Given the description of an element on the screen output the (x, y) to click on. 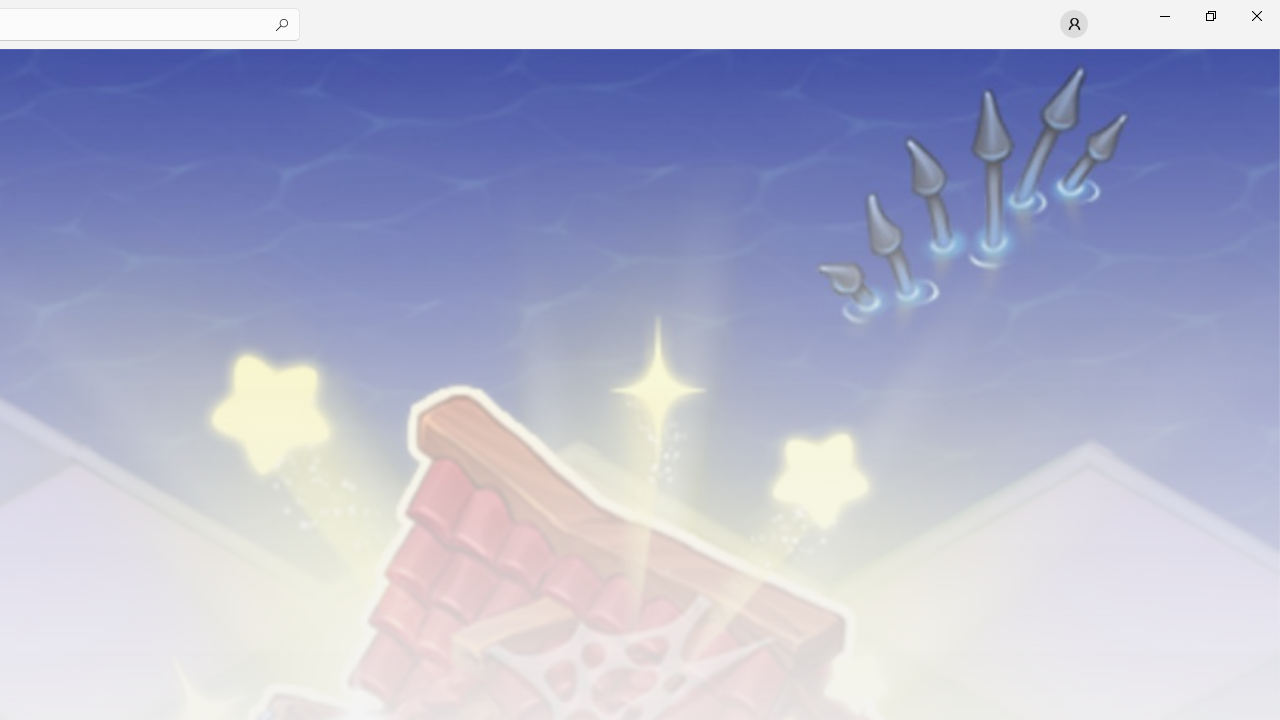
Restore Microsoft Store (1210, 15)
Minimize Microsoft Store (1164, 15)
Close Microsoft Store (1256, 15)
User profile (1073, 24)
